Given the description of an element on the screen output the (x, y) to click on. 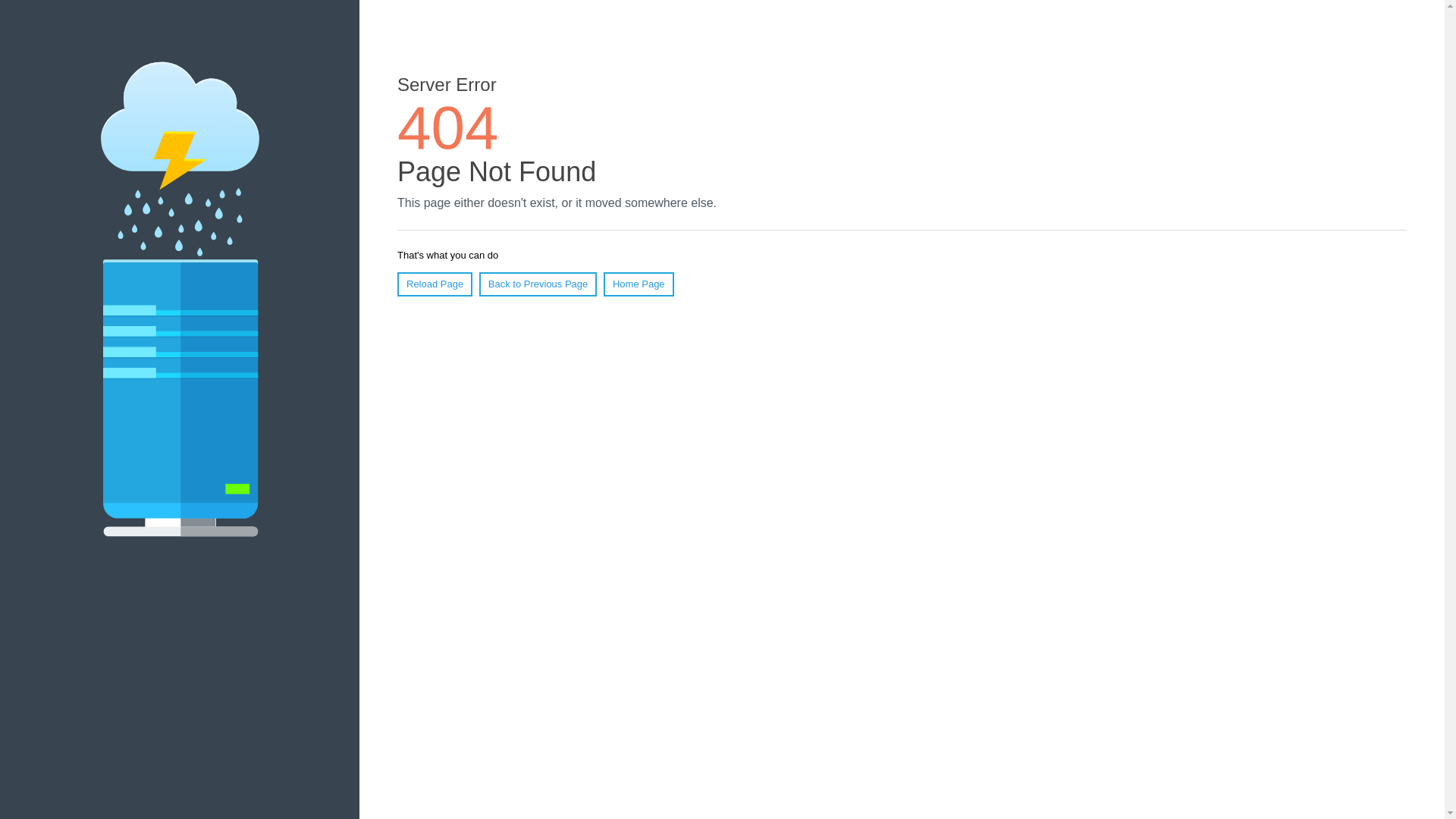
Reload Page Element type: text (434, 284)
Home Page Element type: text (638, 284)
Back to Previous Page Element type: text (538, 284)
